Given the description of an element on the screen output the (x, y) to click on. 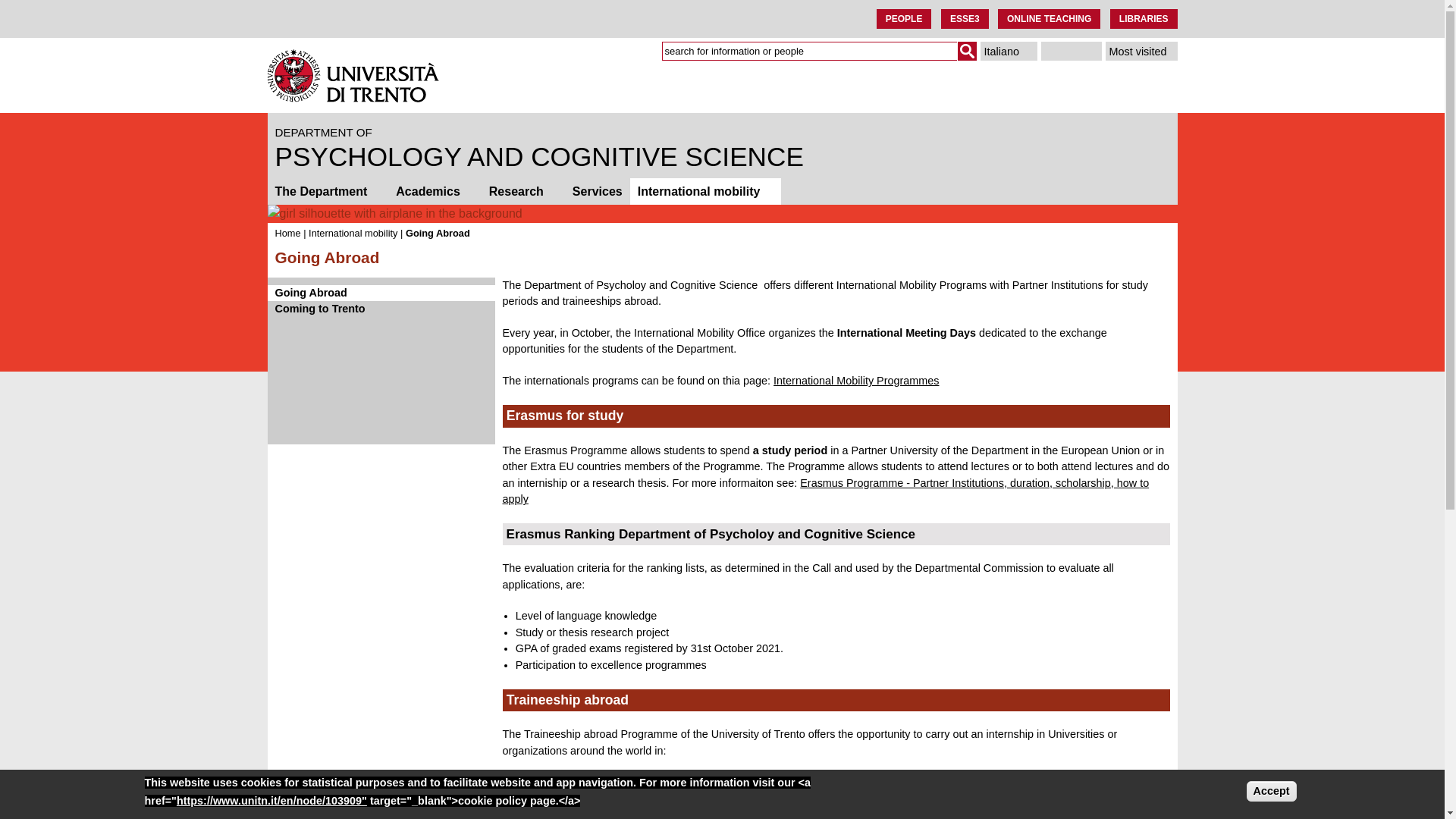
Andare all'estero (1007, 50)
search for information or people (808, 50)
Search (965, 50)
